Given the description of an element on the screen output the (x, y) to click on. 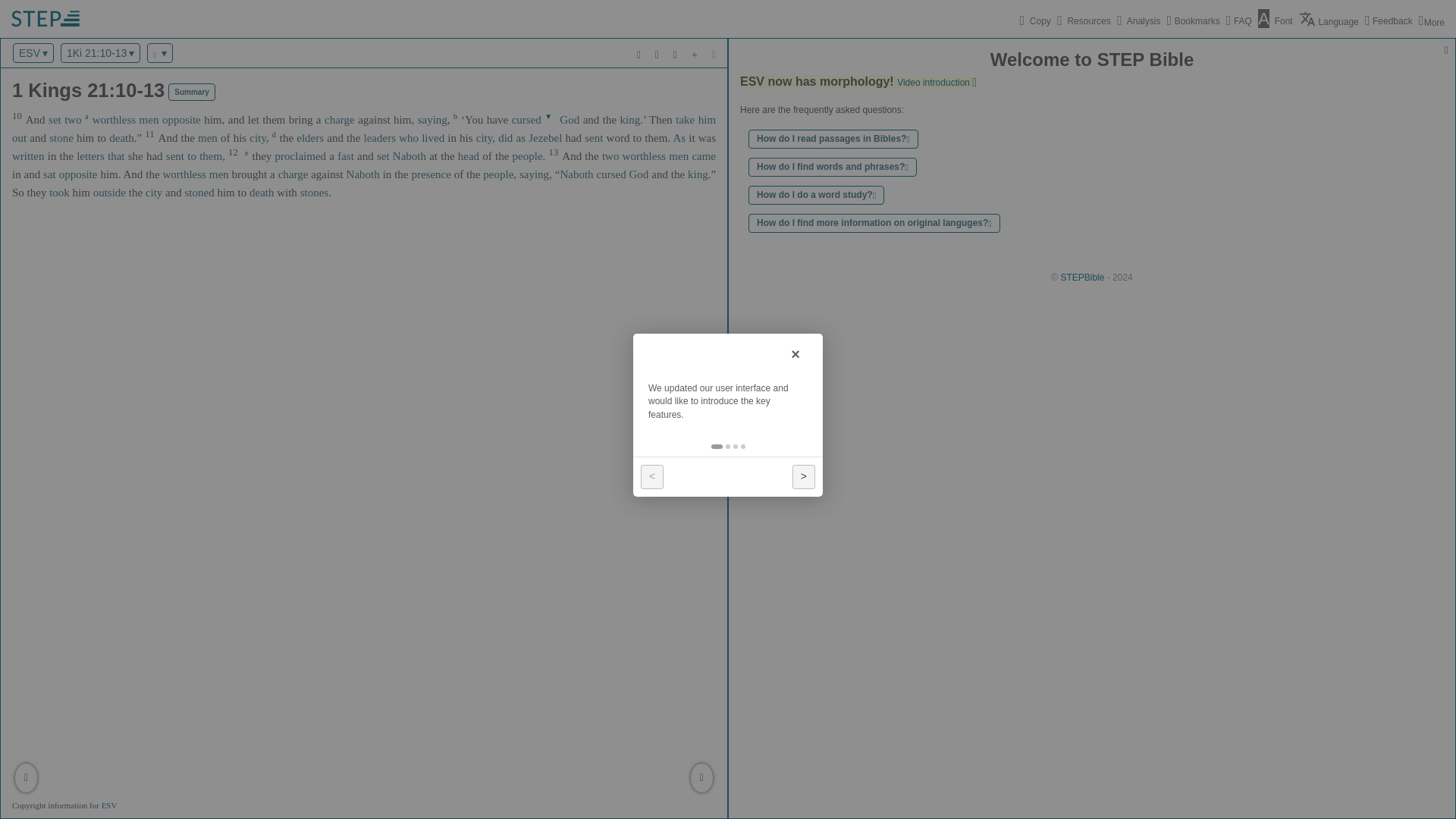
Bookmarks and recent texts (1191, 20)
A  Font (1272, 19)
Language (1326, 18)
Language (1326, 18)
Resources powered by STEPBible (1081, 20)
Copy (1033, 20)
Frequently asked questions (1237, 20)
Font size (1272, 19)
 FAQ (1237, 20)
  Copy (1033, 20)
 Bookmarks (1191, 20)
Analysis (1136, 20)
  Analysis (1136, 20)
Reset to default configuration (45, 18)
  Resources (1081, 20)
